Given the description of an element on the screen output the (x, y) to click on. 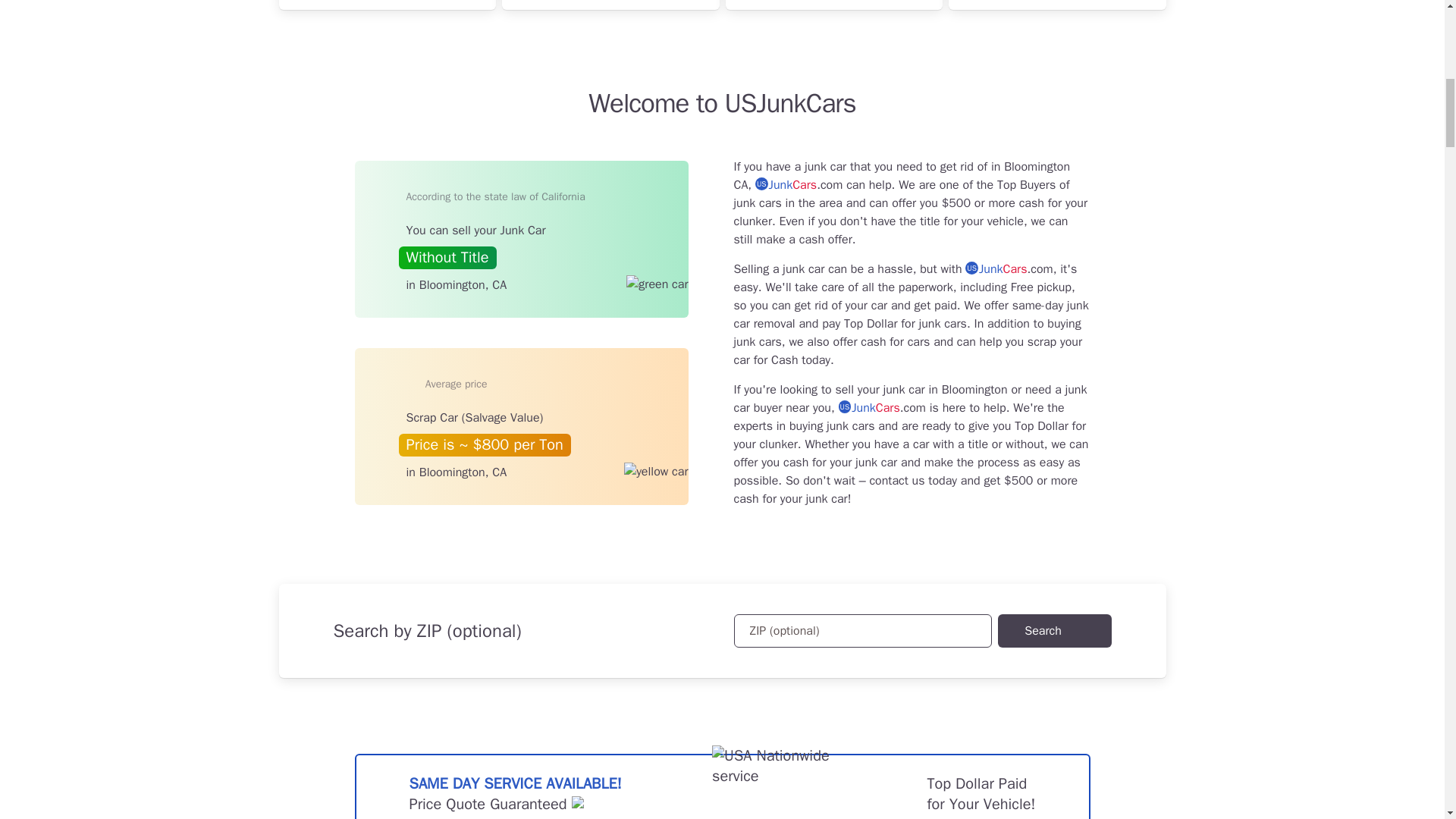
Search (1054, 630)
